Given the description of an element on the screen output the (x, y) to click on. 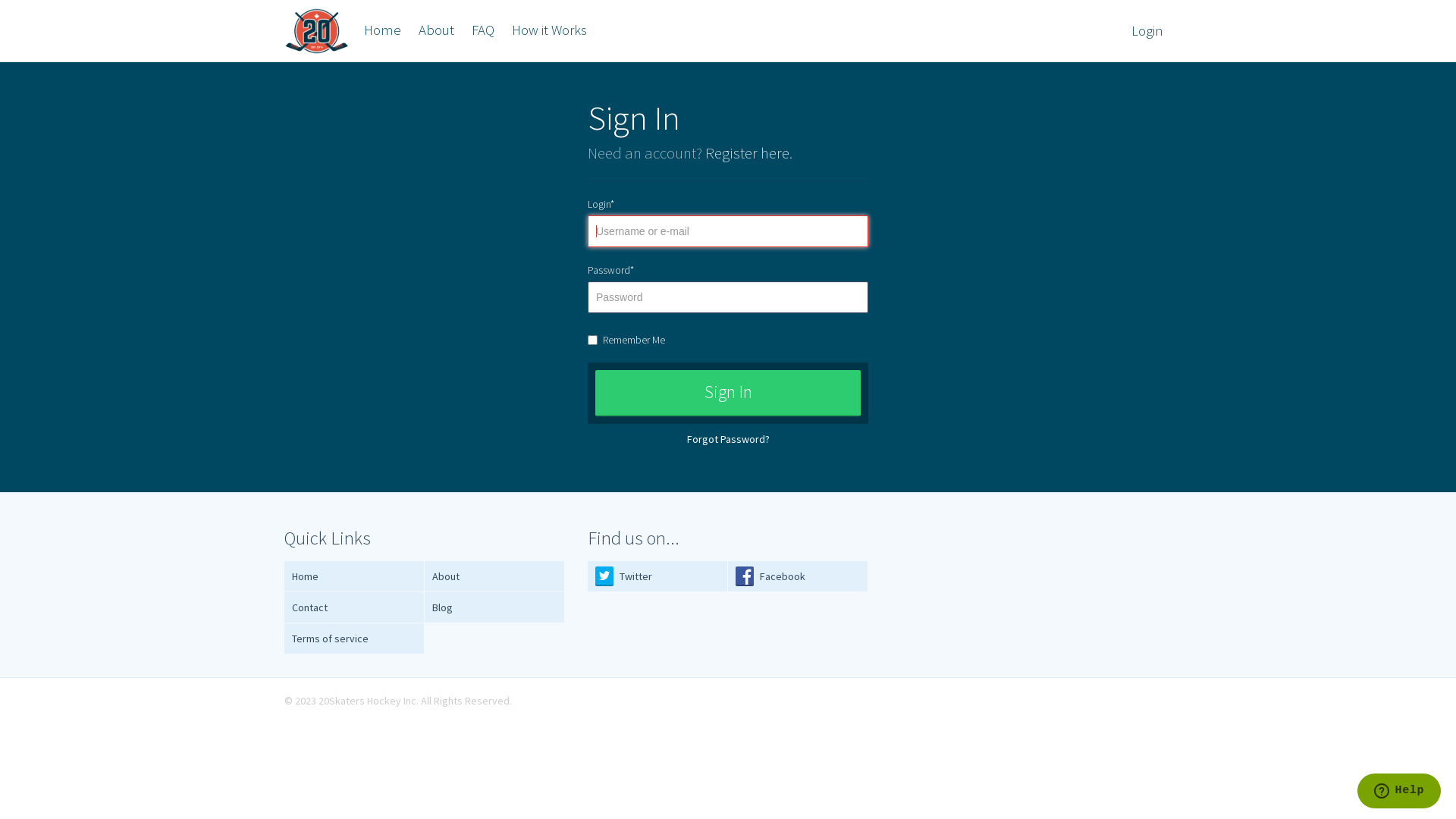
Terms of service Element type: text (354, 638)
Facebook Element type: text (798, 576)
Home Element type: text (382, 30)
Register here Element type: text (747, 152)
About Element type: text (494, 576)
About Element type: text (436, 30)
Opens a widget where you can find more information Element type: hover (1398, 792)
FAQ Element type: text (483, 30)
Blog Element type: text (494, 607)
Sign In Element type: text (727, 393)
Twitter Element type: text (657, 576)
How it Works Element type: text (549, 30)
Login Element type: text (1147, 31)
20Skaters Element type: text (316, 30)
Home Element type: text (354, 576)
Forgot Password? Element type: text (728, 438)
Contact Element type: text (354, 607)
